Given the description of an element on the screen output the (x, y) to click on. 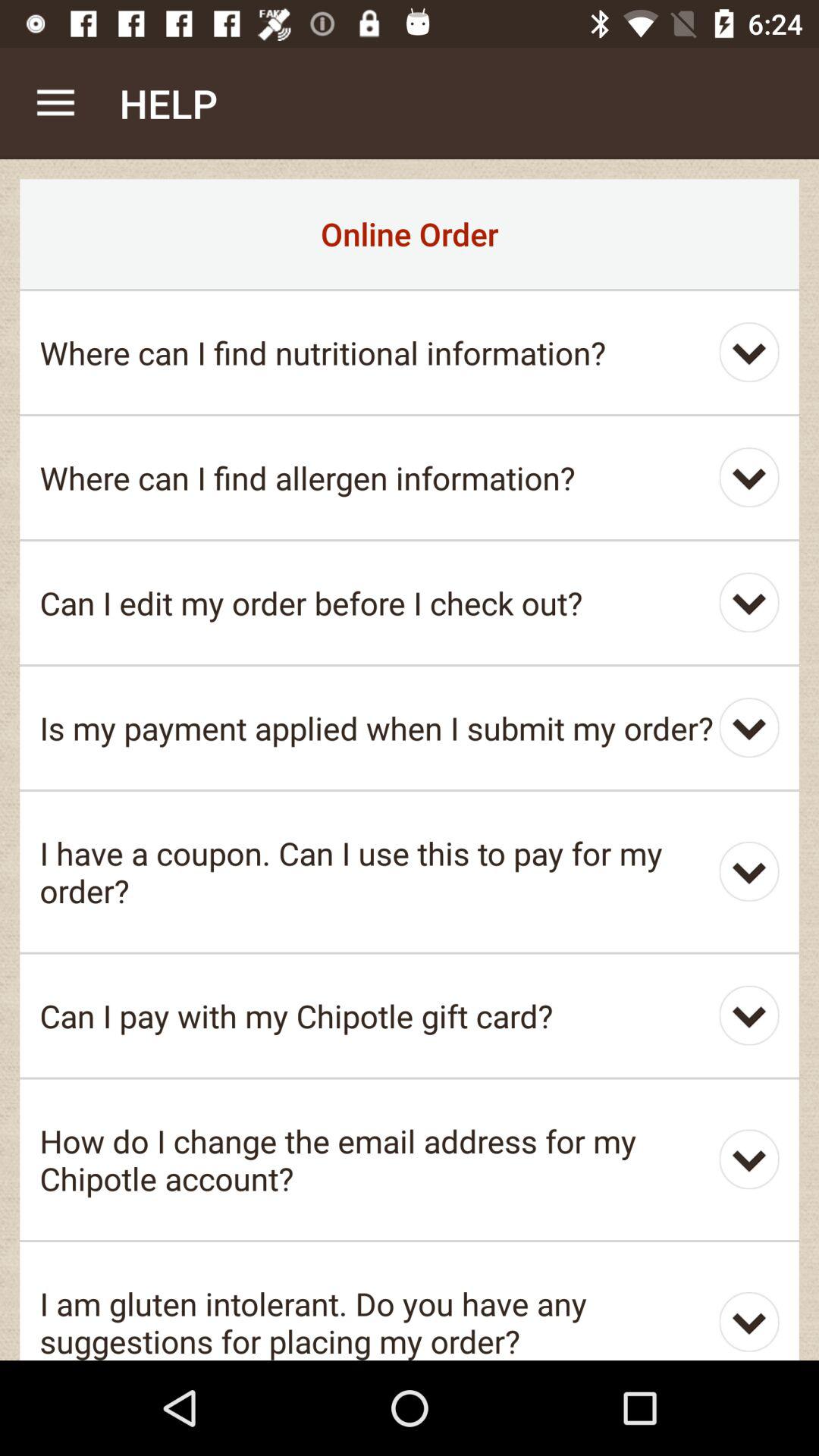
turn off item to the left of the help app (55, 103)
